Given the description of an element on the screen output the (x, y) to click on. 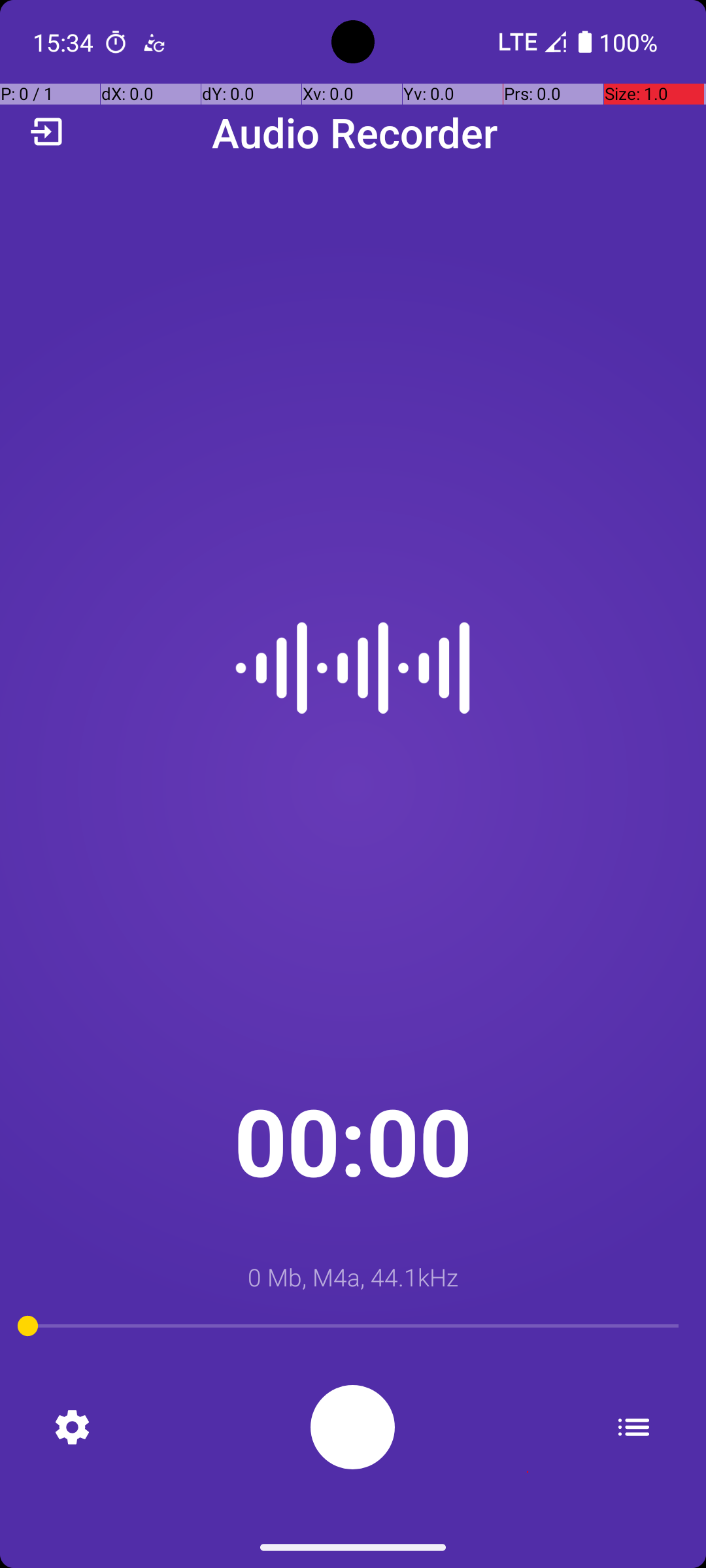
00:00 Element type: android.widget.TextView (352, 1140)
0 Mb, M4a, 44.1kHz Element type: android.widget.TextView (352, 1276)
Recording: %s Element type: android.widget.ImageButton (352, 1427)
VLC notification: Scanning for media files Element type: android.widget.ImageView (153, 41)
